Given the description of an element on the screen output the (x, y) to click on. 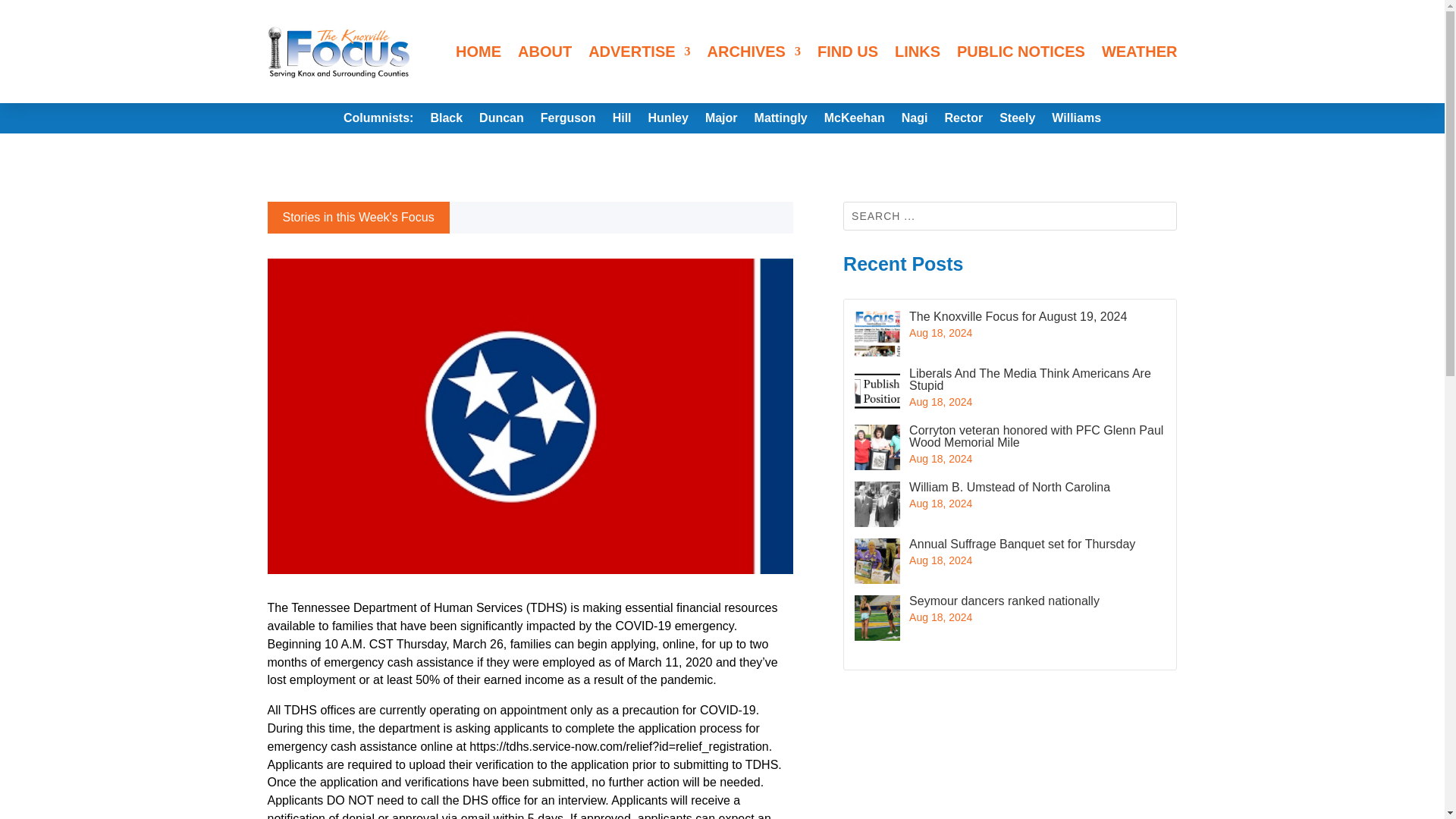
ADVERTISE (639, 51)
ARCHIVES (753, 51)
FIND US (846, 51)
WEATHER (1139, 51)
ABOUT (545, 51)
PUBLIC NOTICES (1020, 51)
